Given the description of an element on the screen output the (x, y) to click on. 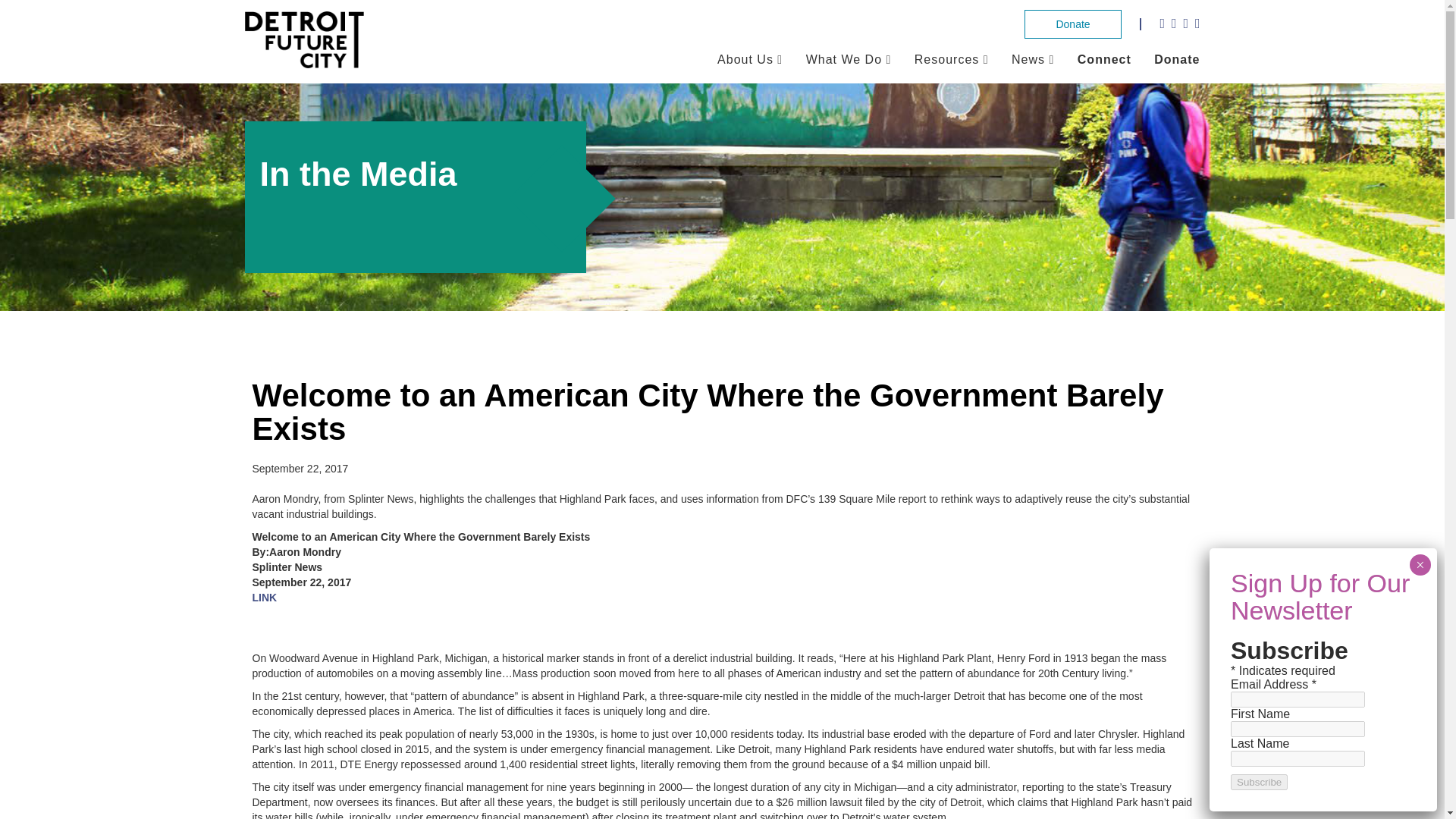
LINK (263, 597)
Donate (1176, 59)
News (1028, 59)
Connect (1104, 59)
What We Do (844, 59)
Subscribe (1258, 781)
Resources (946, 59)
About Us (745, 59)
Donate (1073, 23)
